Given the description of an element on the screen output the (x, y) to click on. 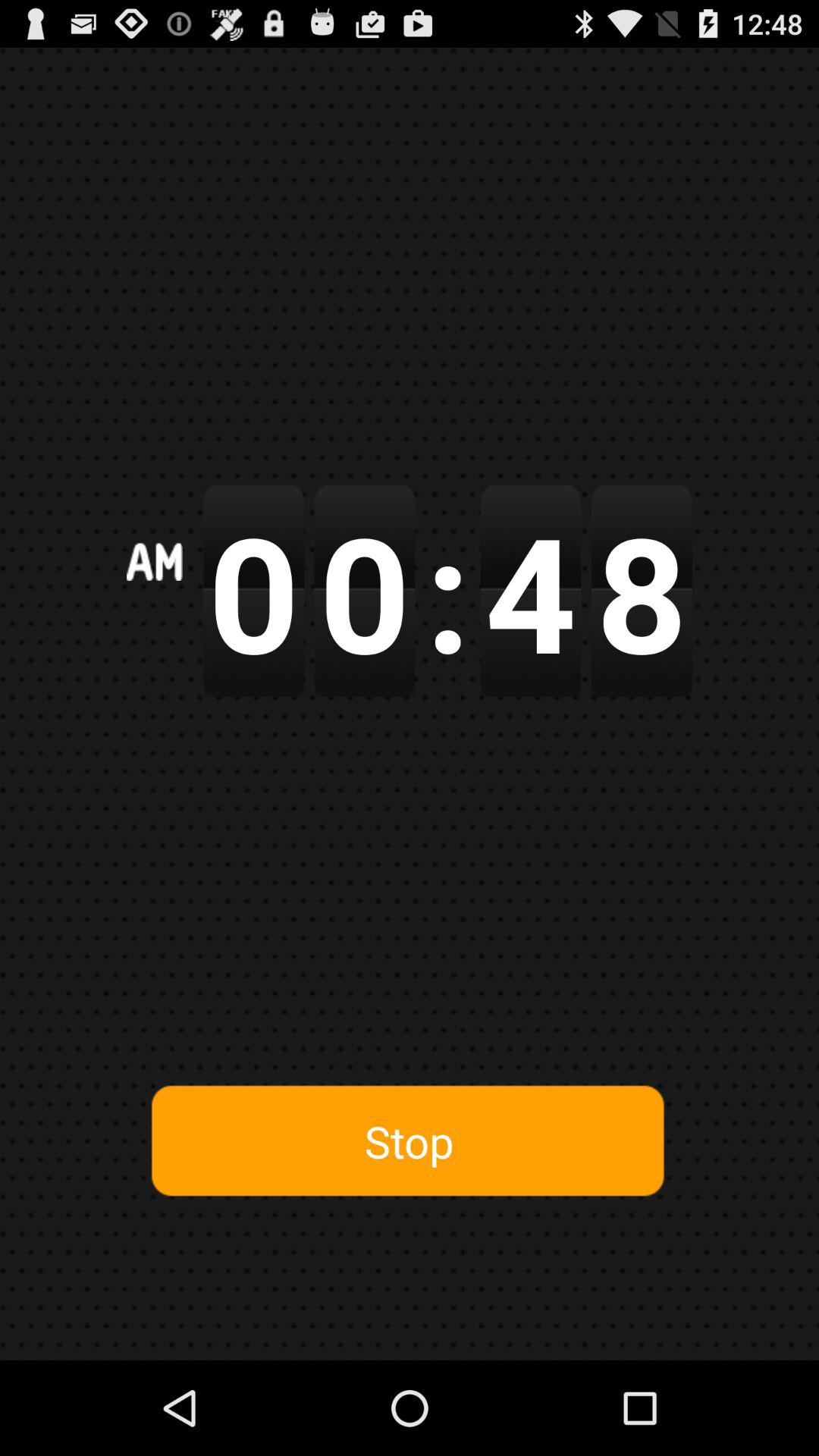
tap the app below the 0 app (408, 1141)
